Given the description of an element on the screen output the (x, y) to click on. 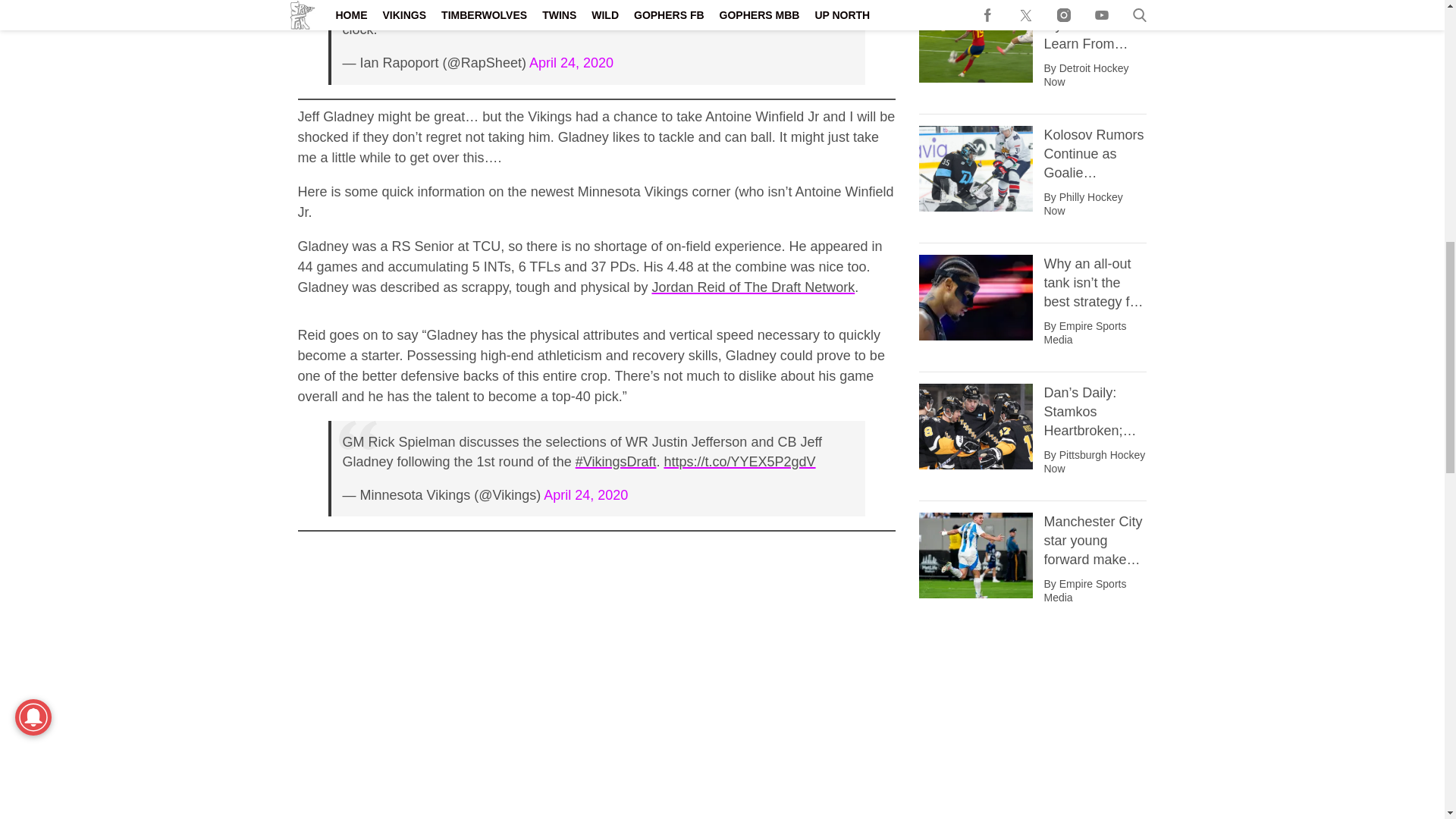
Jordan Reid of The Draft Network (752, 287)
April 24, 2020 (585, 494)
April 24, 2020 (570, 62)
